Given the description of an element on the screen output the (x, y) to click on. 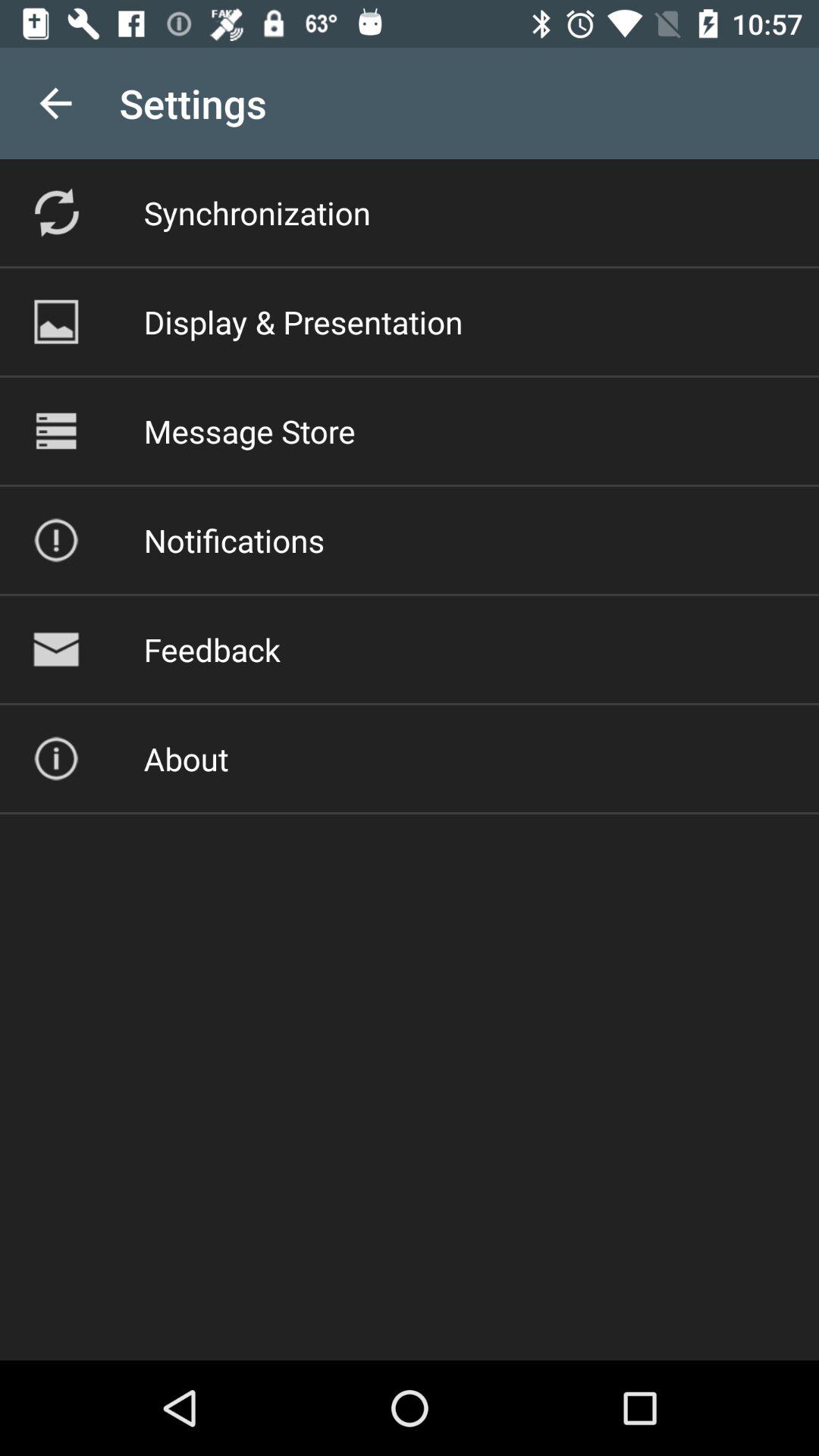
open the item below the notifications (211, 649)
